Given the description of an element on the screen output the (x, y) to click on. 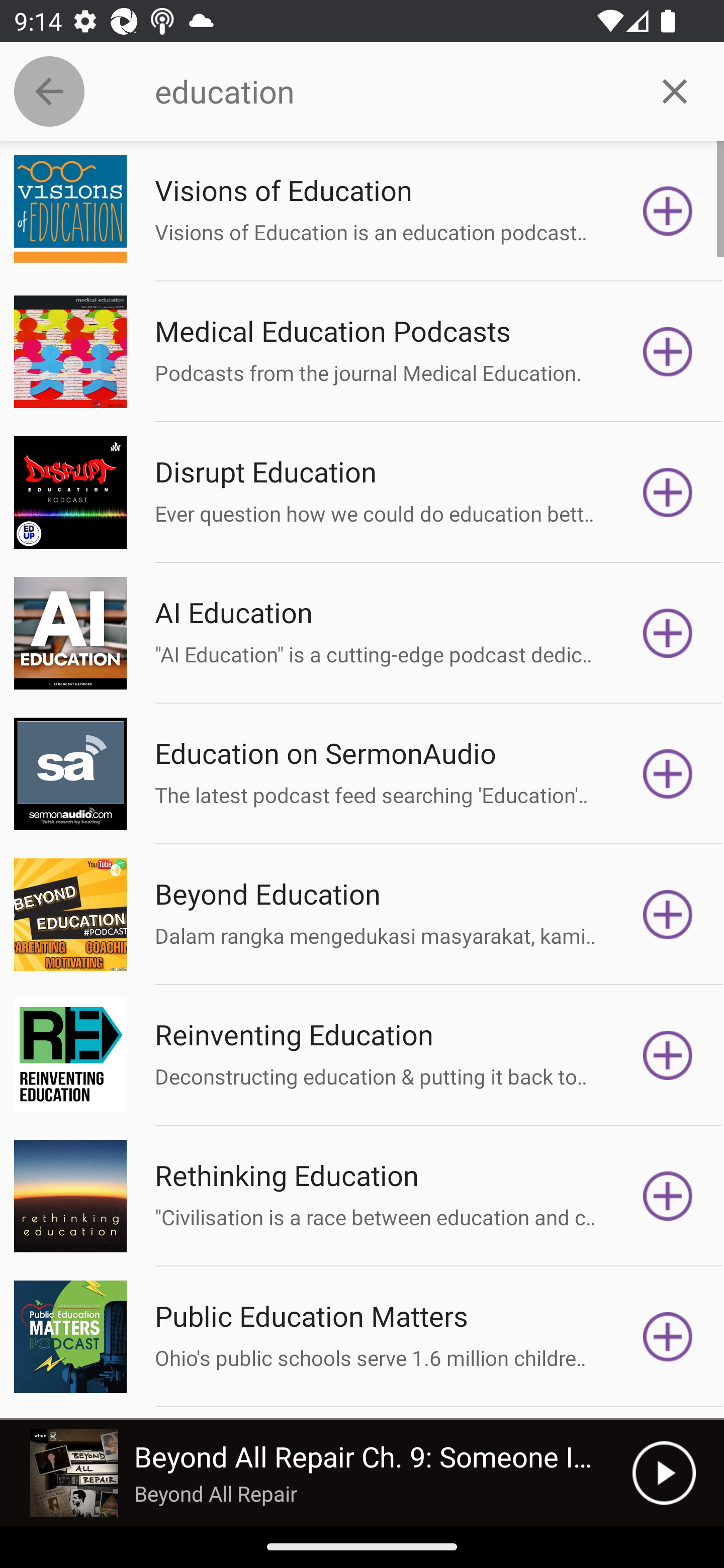
Collapse (49, 91)
Clear query (674, 90)
education (389, 91)
Subscribe (667, 211)
Subscribe (667, 350)
Subscribe (667, 491)
Subscribe (667, 633)
Subscribe (667, 773)
Subscribe (667, 913)
Subscribe (667, 1054)
Subscribe (667, 1195)
Subscribe (667, 1336)
Play (663, 1472)
